Given the description of an element on the screen output the (x, y) to click on. 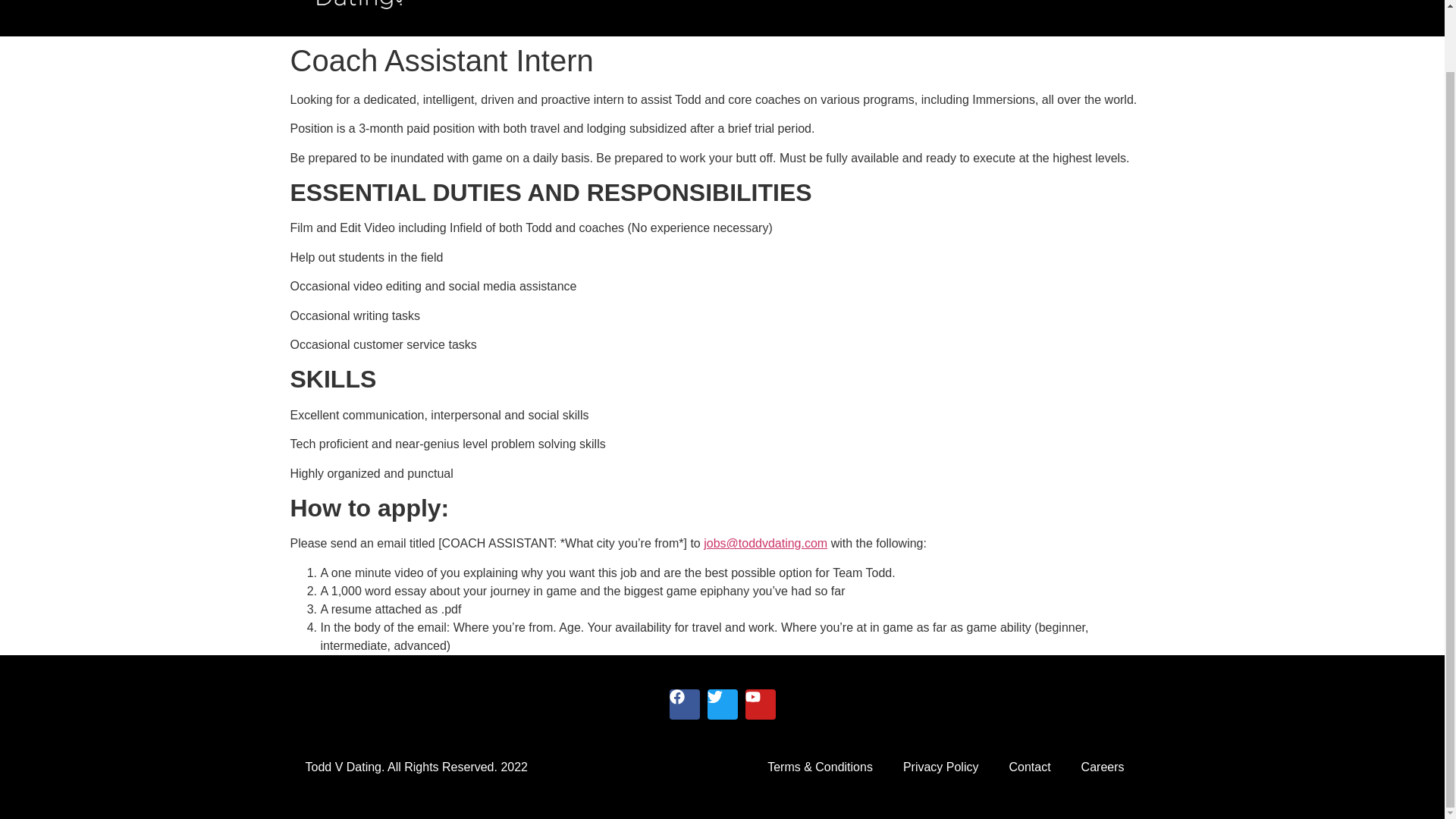
Privacy Policy (941, 767)
Careers (1102, 767)
Contact (1028, 767)
Coaching (911, 0)
Programs (992, 0)
